Given the description of an element on the screen output the (x, y) to click on. 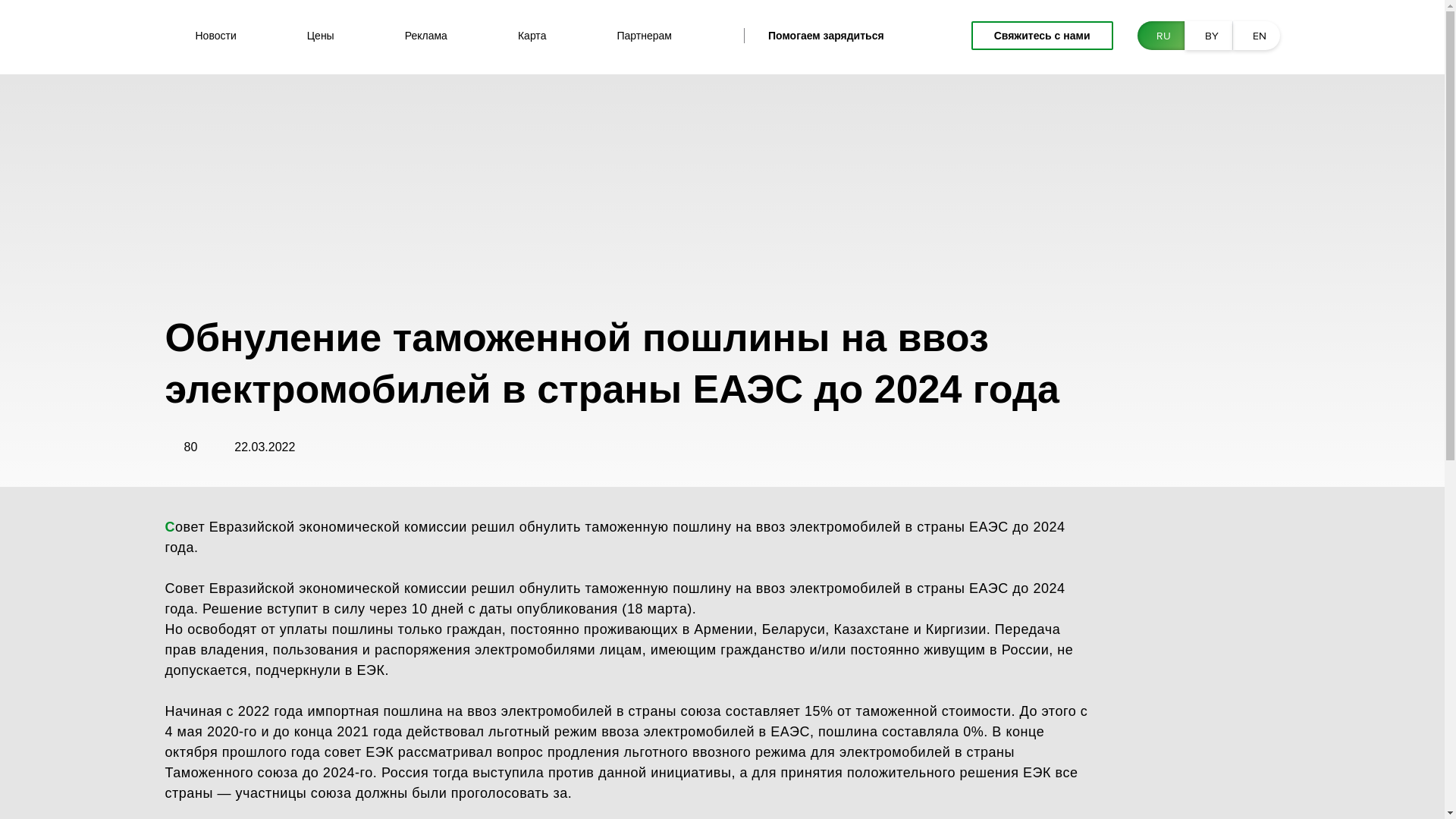
RU Element type: text (1160, 35)
BY Element type: text (1207, 35)
EN Element type: text (1256, 35)
